Given the description of an element on the screen output the (x, y) to click on. 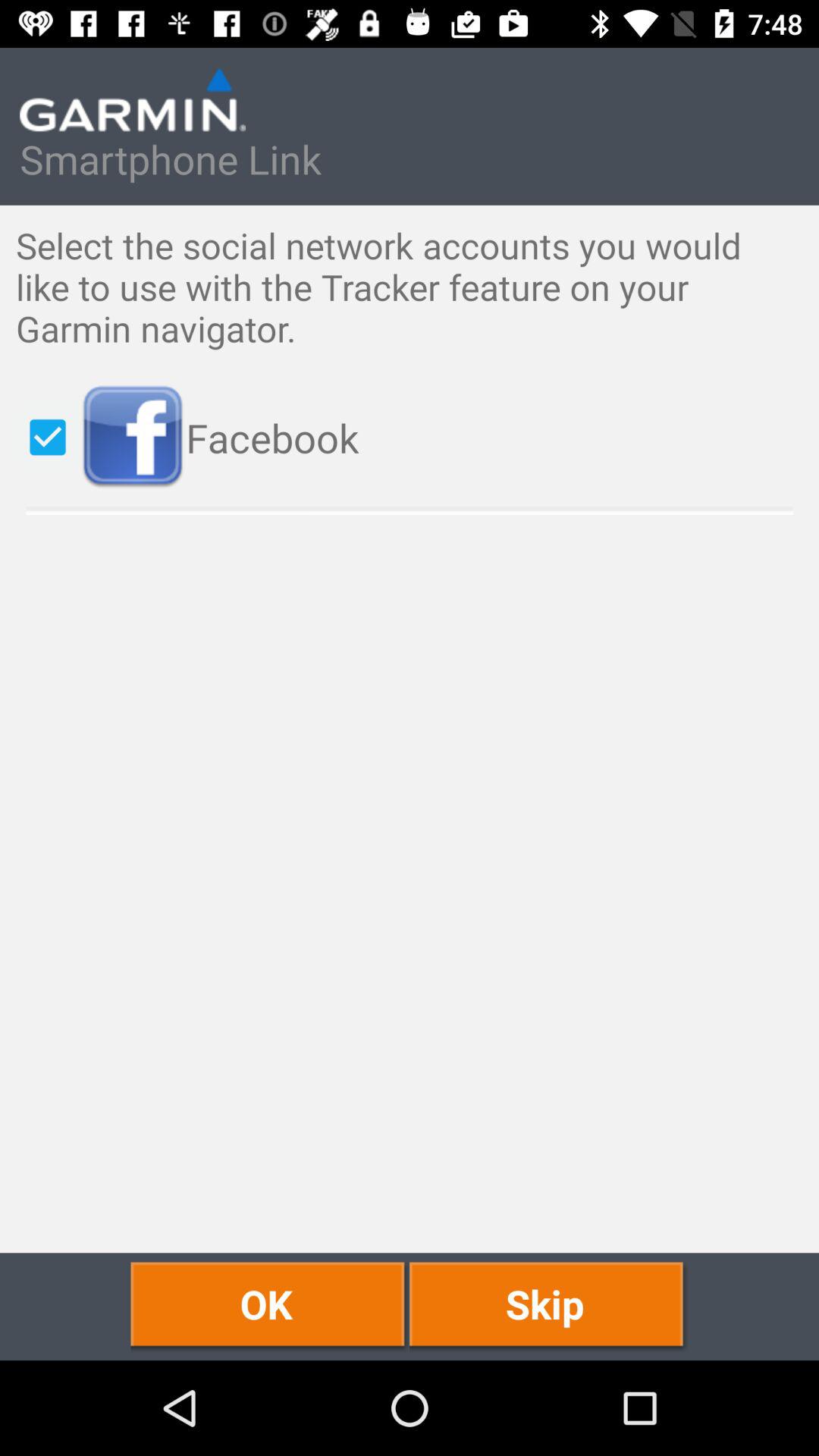
turn off ok item (269, 1306)
